Given the description of an element on the screen output the (x, y) to click on. 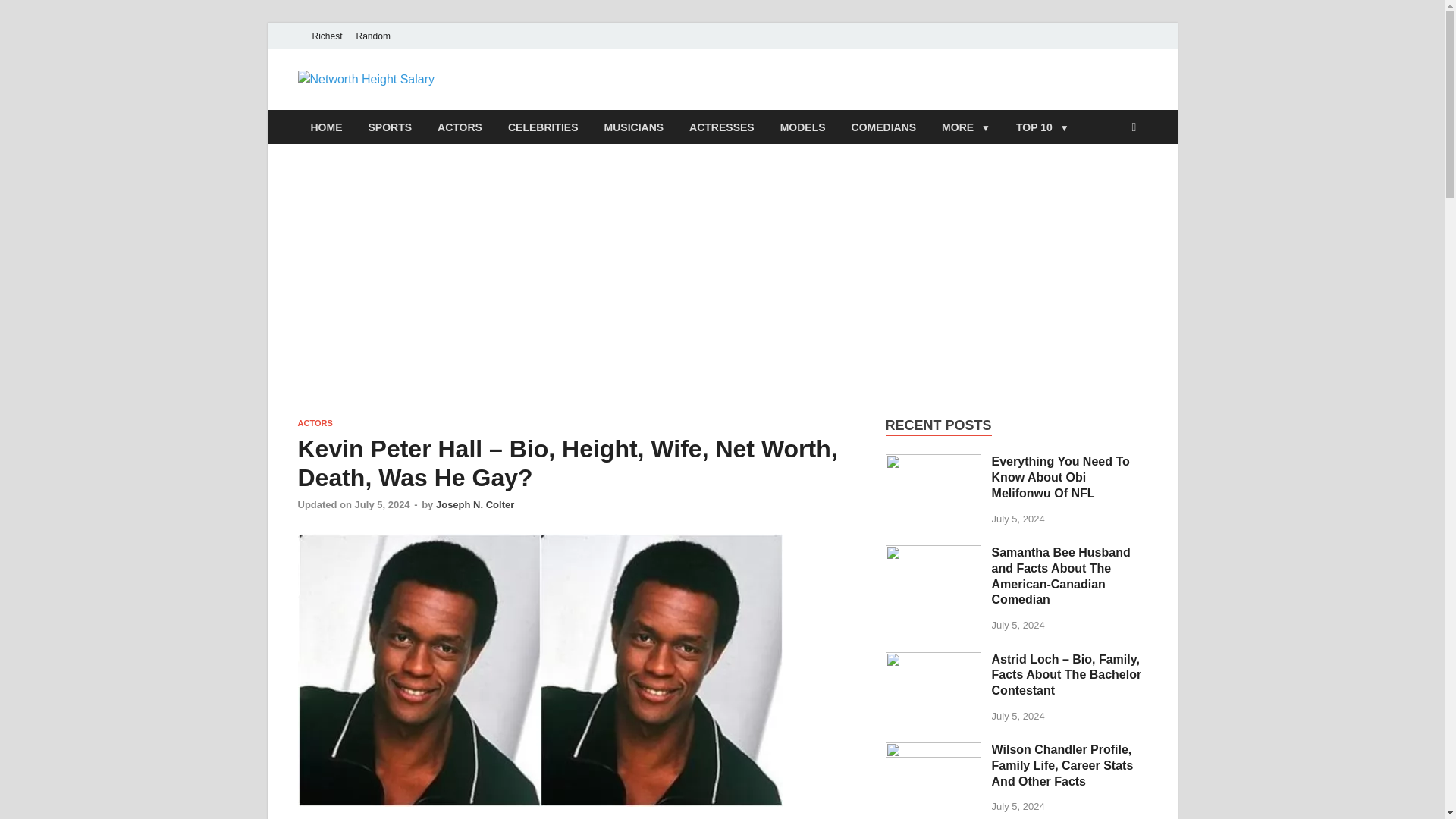
Everything You Need To Know About Obi Melifonwu Of NFL (932, 462)
TOP 10 (1042, 126)
MUSICIANS (634, 126)
MORE (965, 126)
ACTORS (460, 126)
ACTRESSES (722, 126)
CELEBRITIES (543, 126)
Networth Height Salary (595, 100)
MODELS (802, 126)
SPORTS (390, 126)
HOME (326, 126)
Richest (326, 35)
COMEDIANS (884, 126)
